Given the description of an element on the screen output the (x, y) to click on. 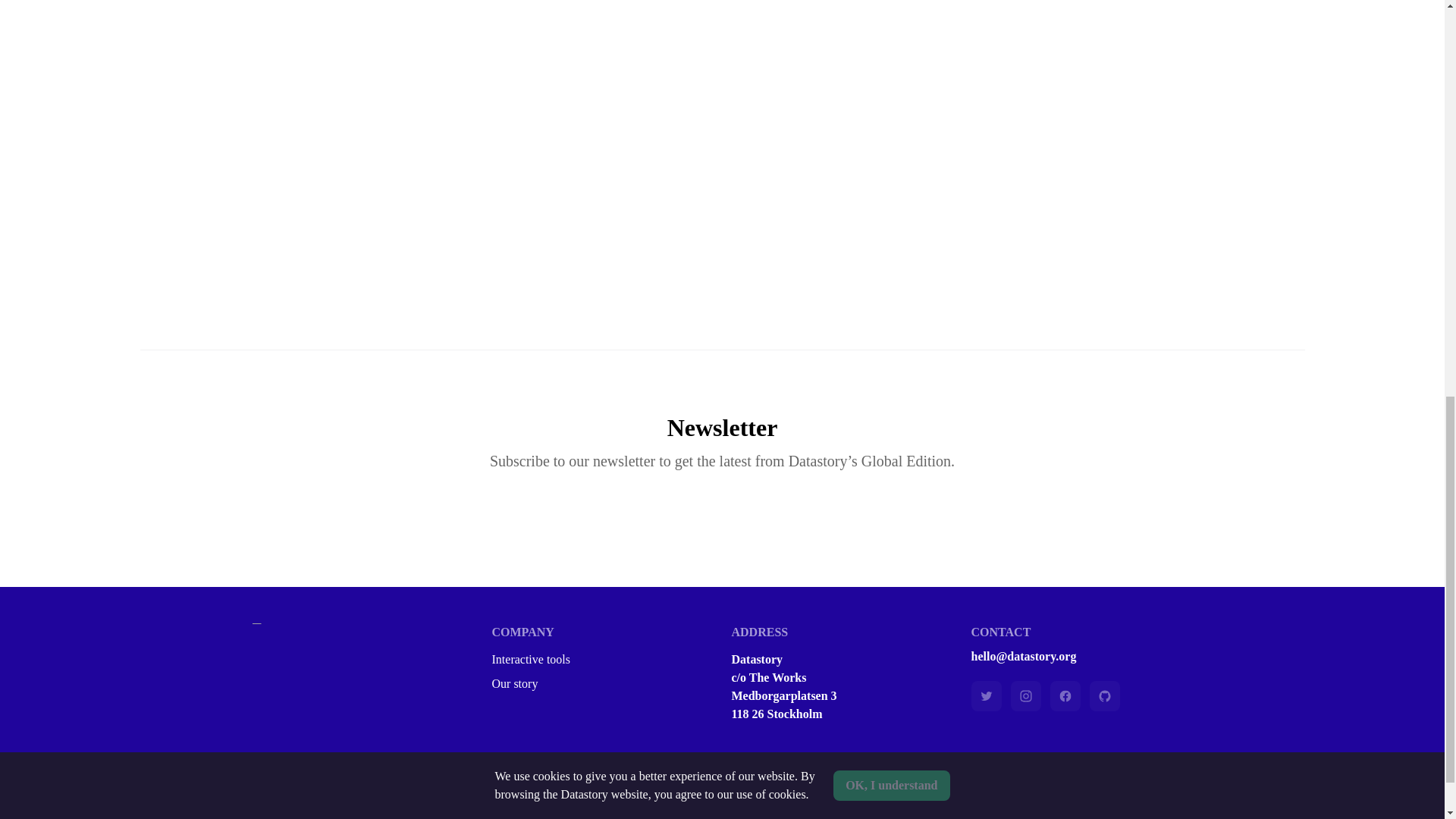
Our story (602, 683)
Interactive tools (602, 659)
